Given the description of an element on the screen output the (x, y) to click on. 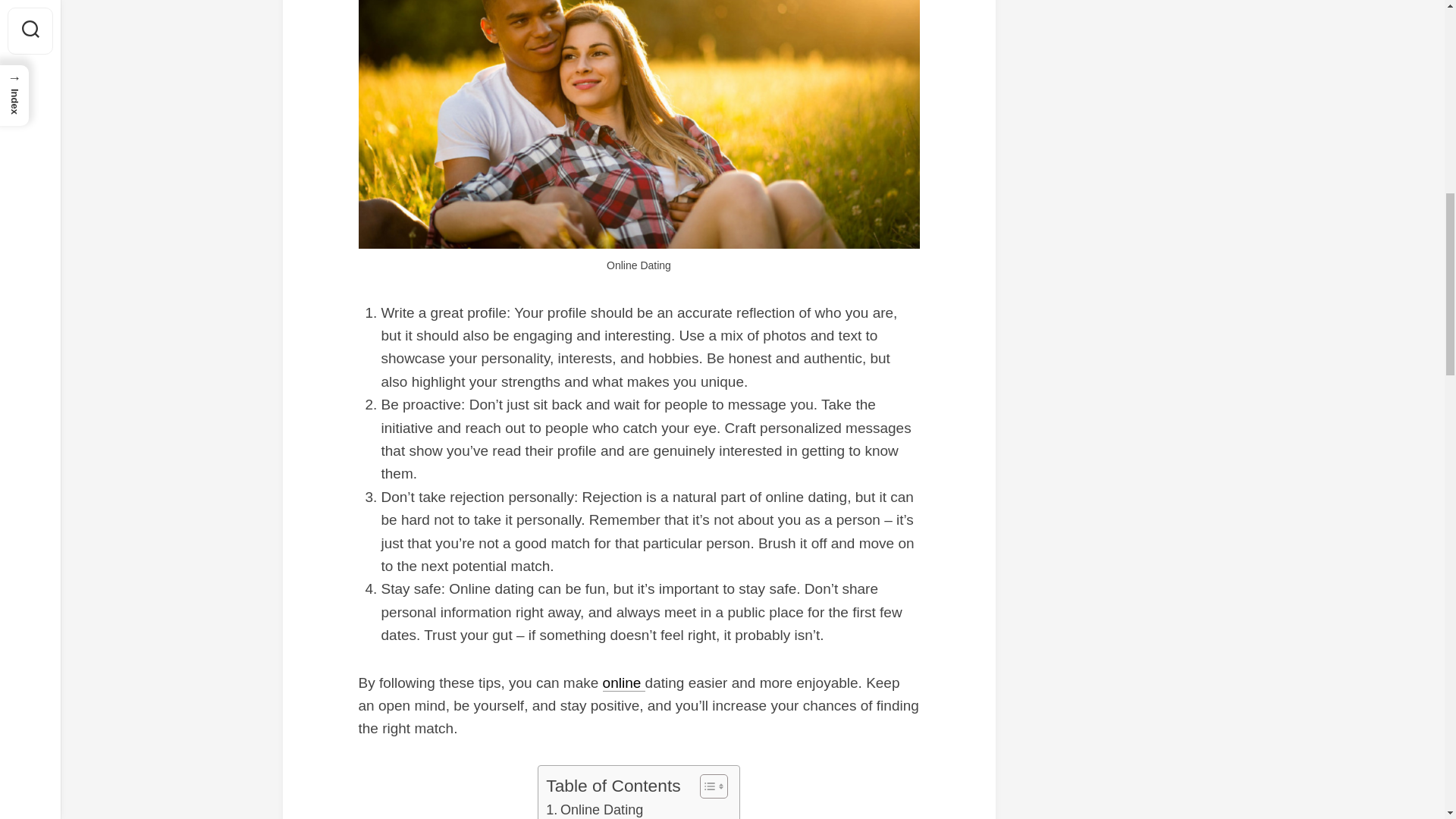
Online Dating (594, 809)
Online Dating (594, 809)
online (623, 682)
